Given the description of an element on the screen output the (x, y) to click on. 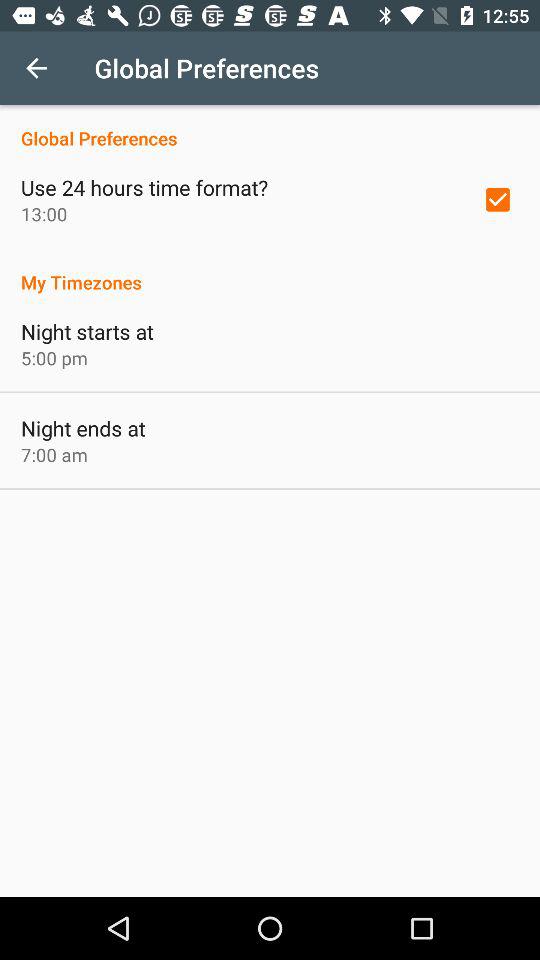
press the item above night starts at item (270, 271)
